Given the description of an element on the screen output the (x, y) to click on. 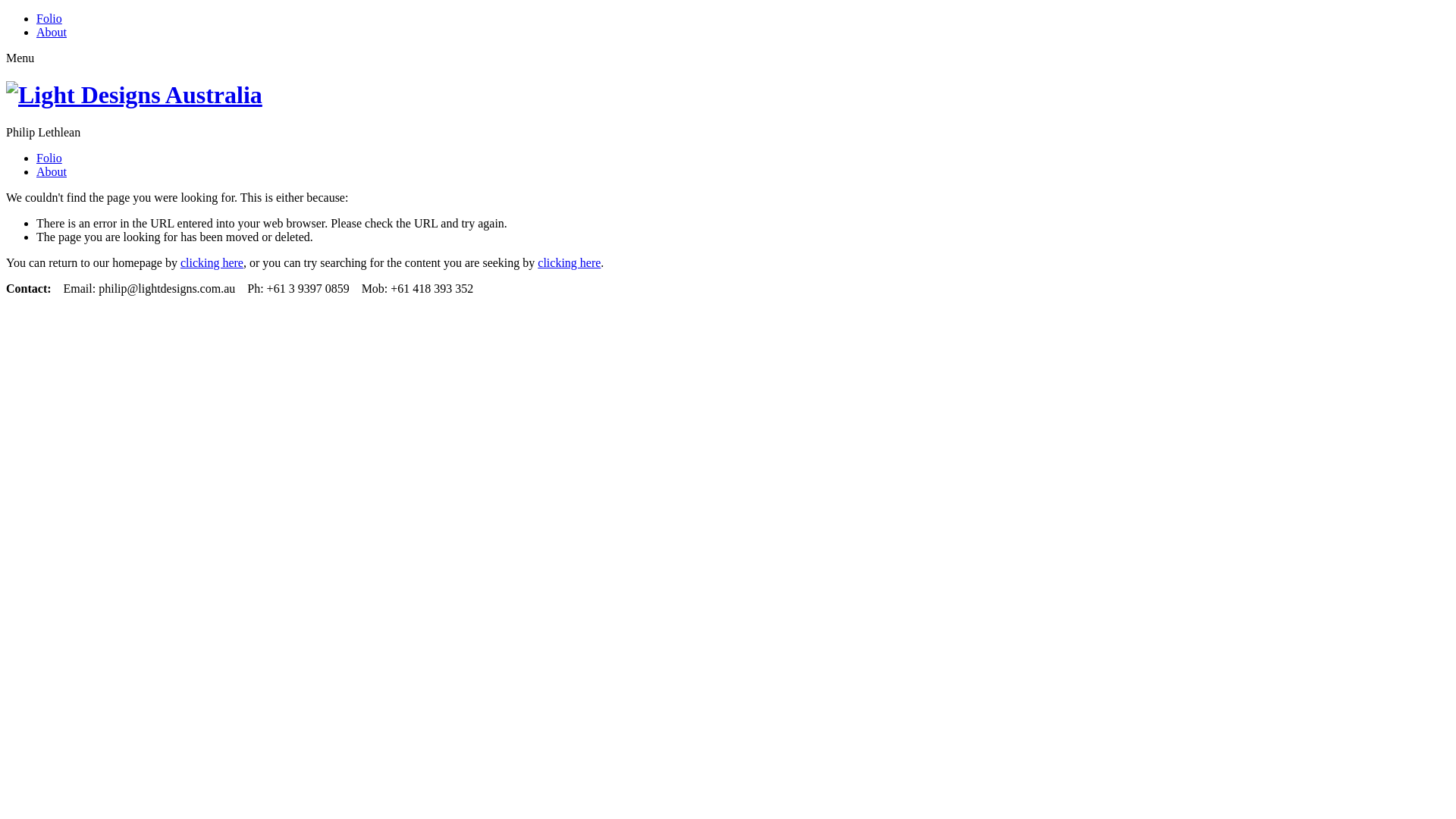
Folio Element type: text (49, 18)
About Element type: text (51, 31)
clicking here Element type: text (568, 262)
Menu Element type: text (20, 57)
clicking here Element type: text (211, 262)
About Element type: text (51, 171)
Folio Element type: text (49, 157)
